Given the description of an element on the screen output the (x, y) to click on. 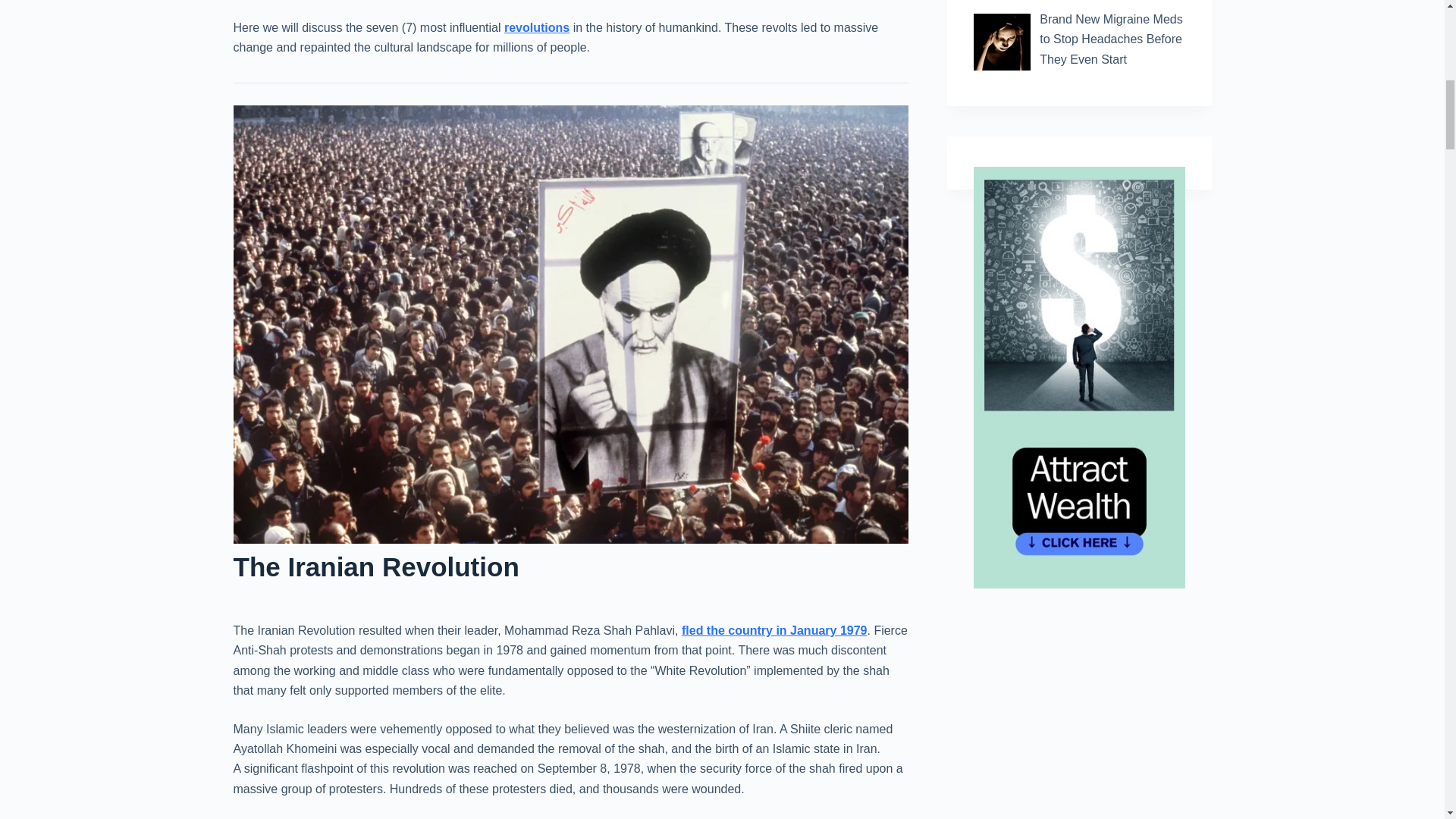
revolutions (536, 27)
fled the country in January 1979 (774, 630)
